Given the description of an element on the screen output the (x, y) to click on. 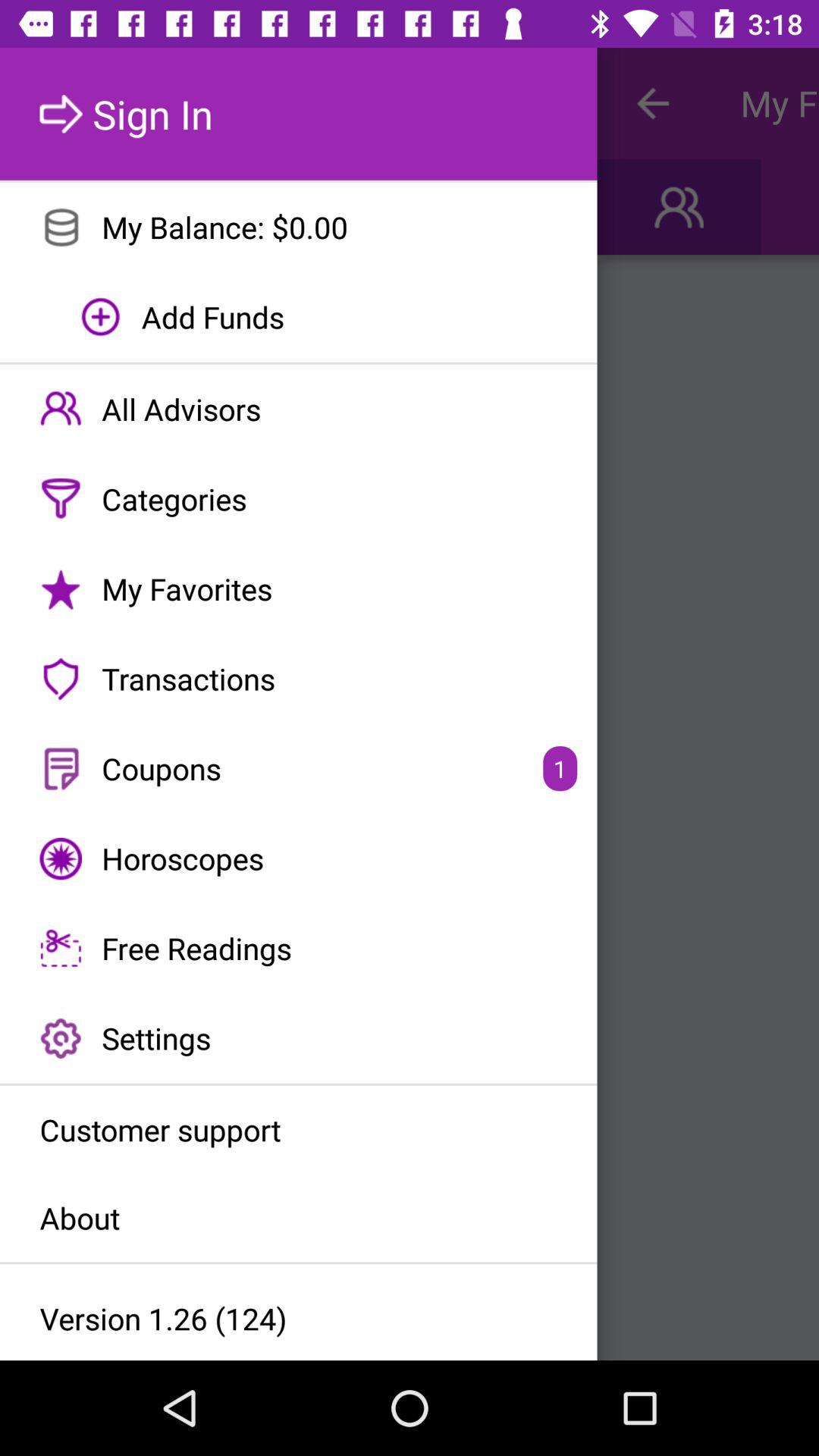
choose the all advisors (298, 409)
